Given the description of an element on the screen output the (x, y) to click on. 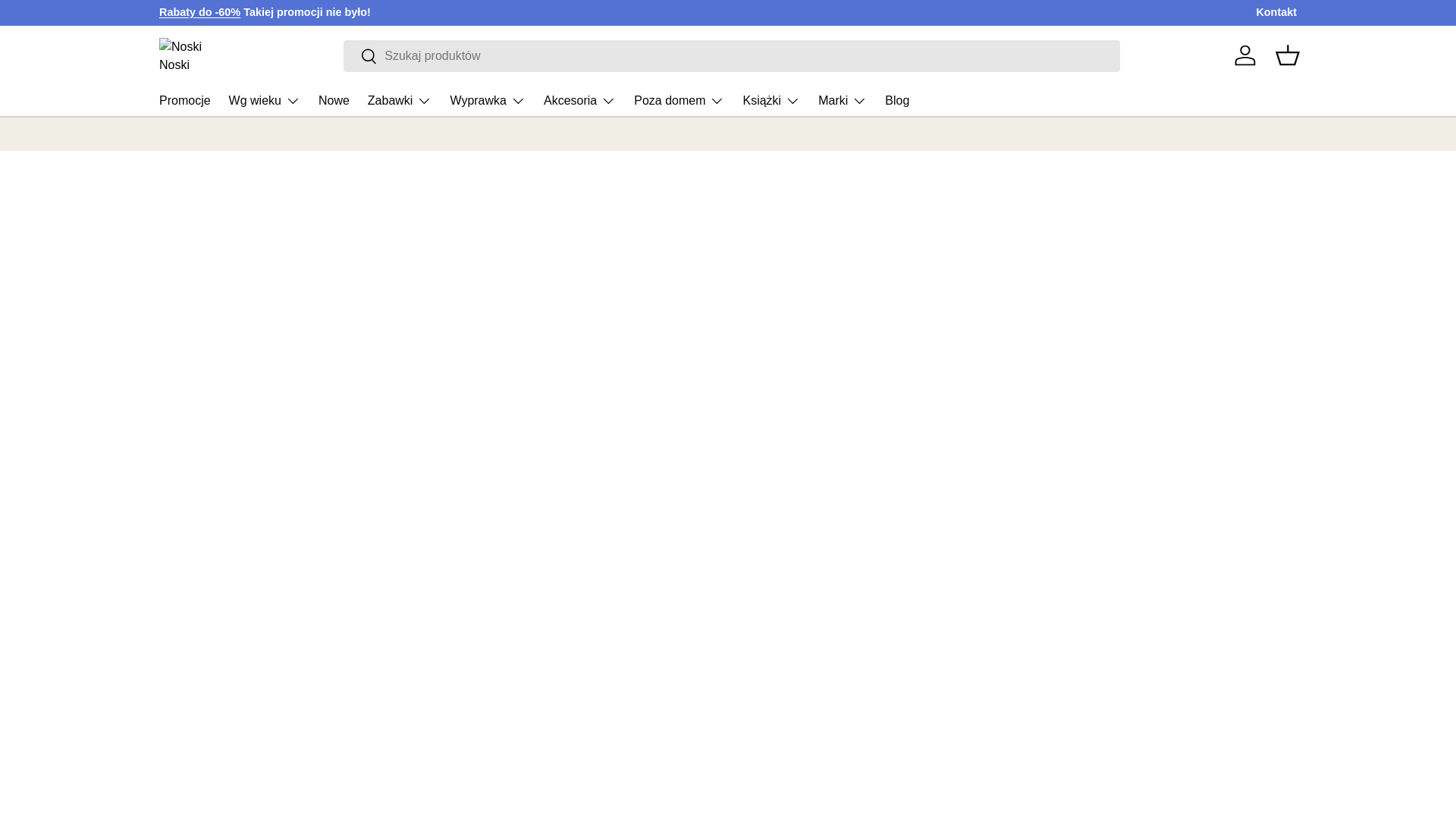
Promocje (184, 100)
Wyszukaj (360, 57)
Koszyk (1287, 55)
Kontakt (1276, 12)
Wg wieku (263, 100)
SALE (199, 11)
Zabawki (400, 100)
Nowe (333, 100)
